Given the description of an element on the screen output the (x, y) to click on. 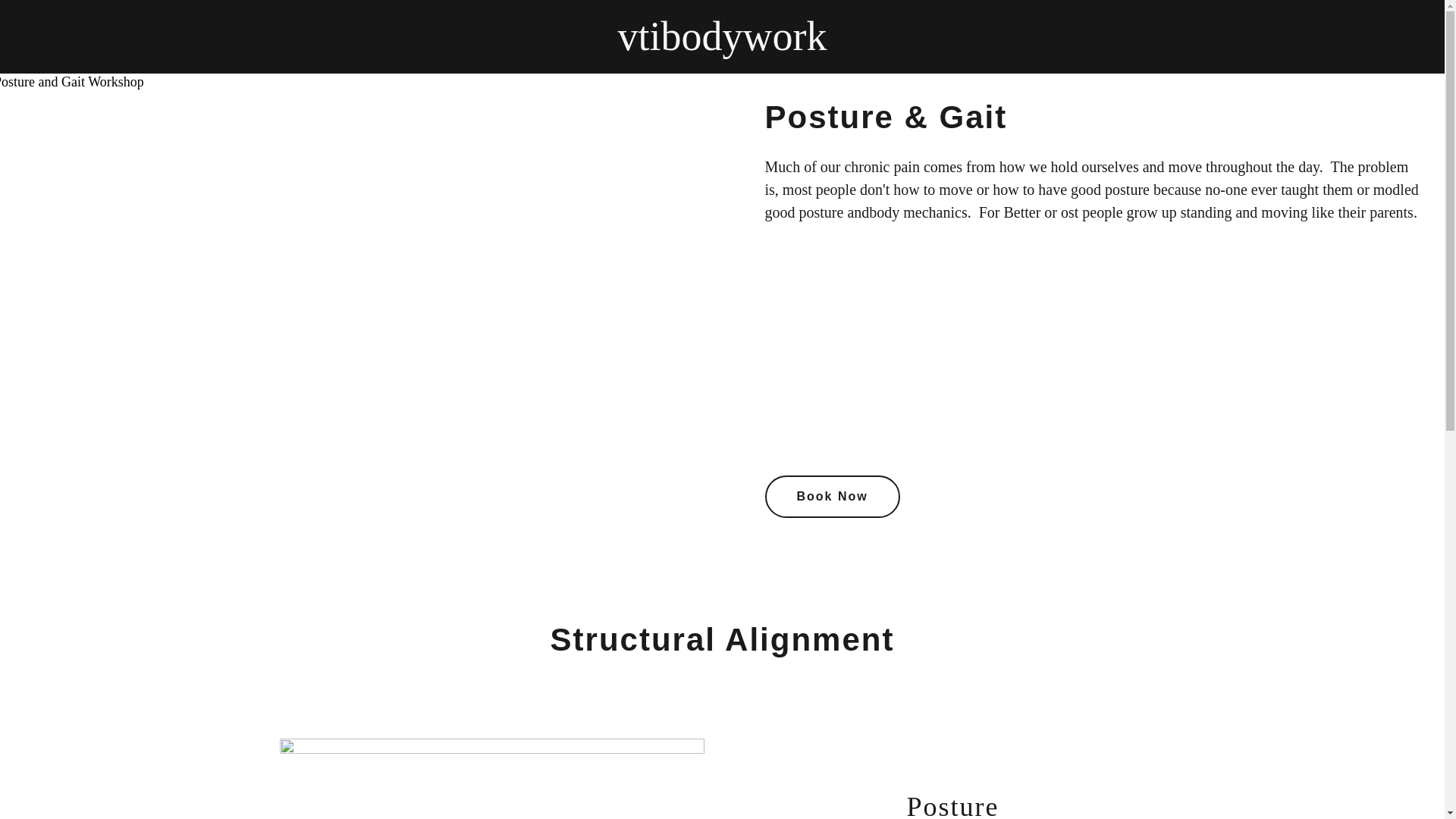
vtibodywork (722, 45)
Book Now (831, 496)
vtibodywork (722, 45)
